Given the description of an element on the screen output the (x, y) to click on. 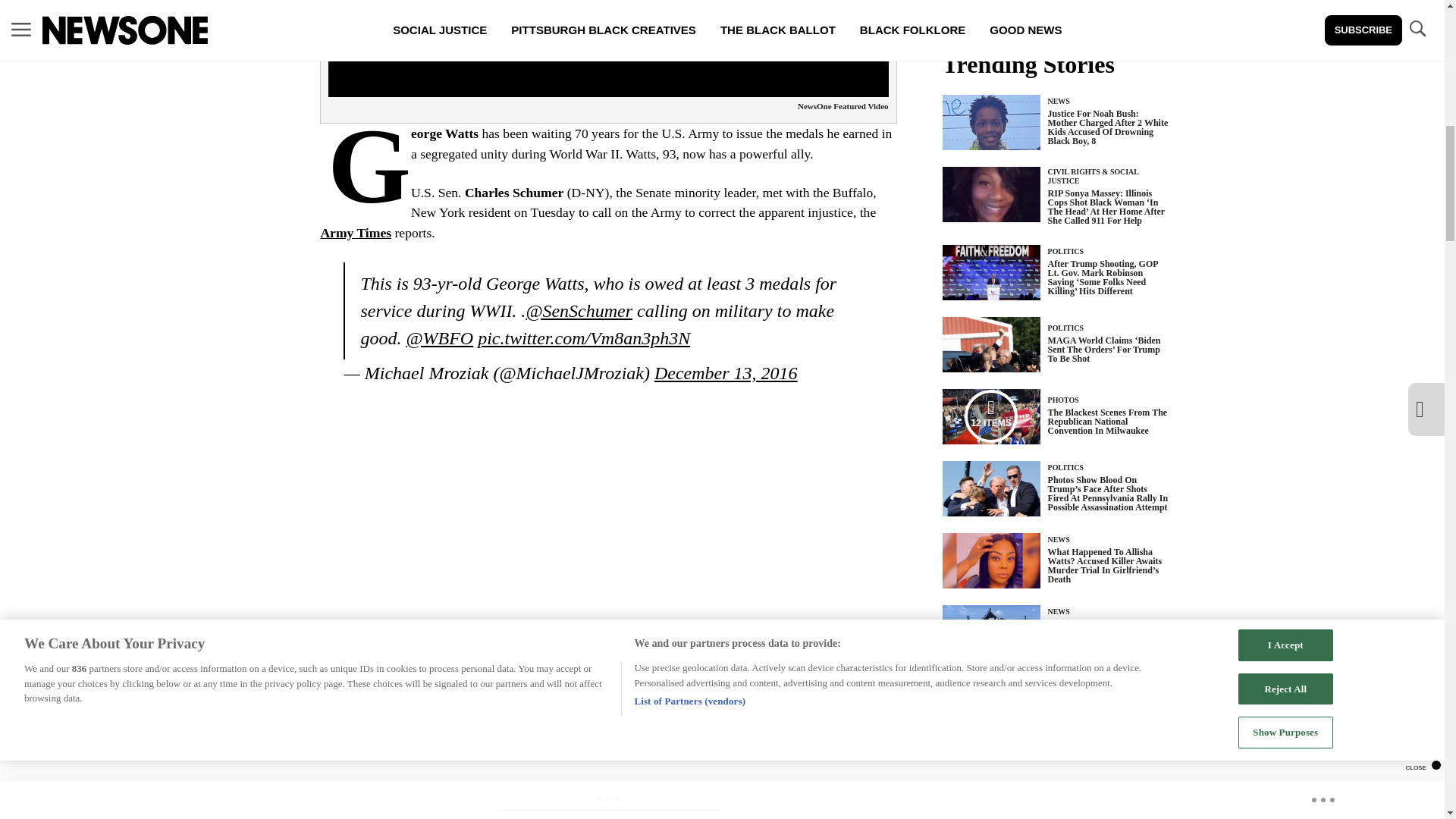
December 13, 2016 (725, 373)
Media Playlist (990, 416)
Army Times (355, 232)
